Given the description of an element on the screen output the (x, y) to click on. 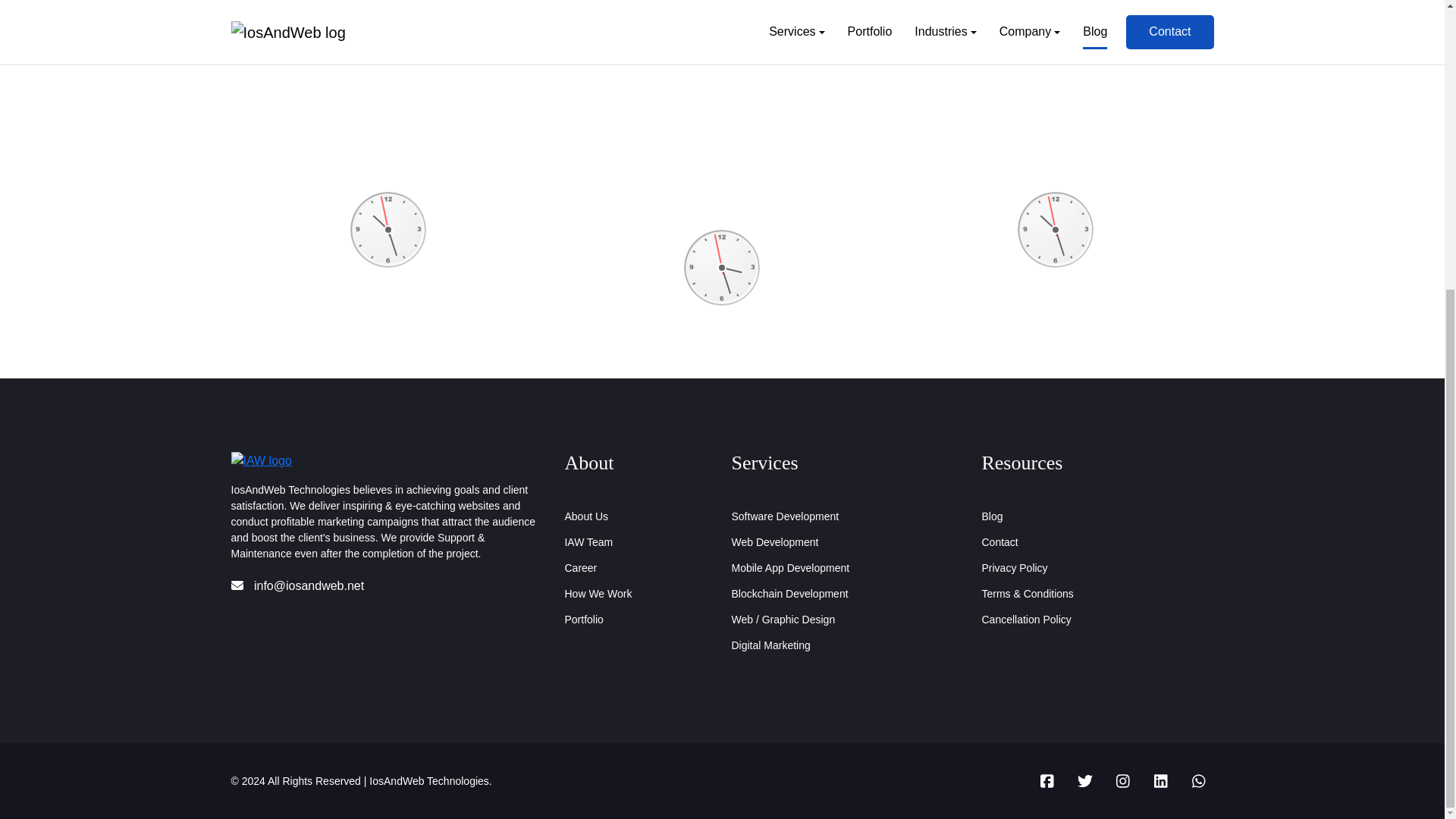
IosAndWeb Technologies (428, 780)
IAW Team (588, 541)
How We Work (597, 593)
Portfolio (583, 619)
Contact (999, 541)
Career (580, 567)
Blockchain Development (788, 593)
Web Development (774, 541)
Software Development (784, 516)
Privacy Policy (1013, 567)
